Given the description of an element on the screen output the (x, y) to click on. 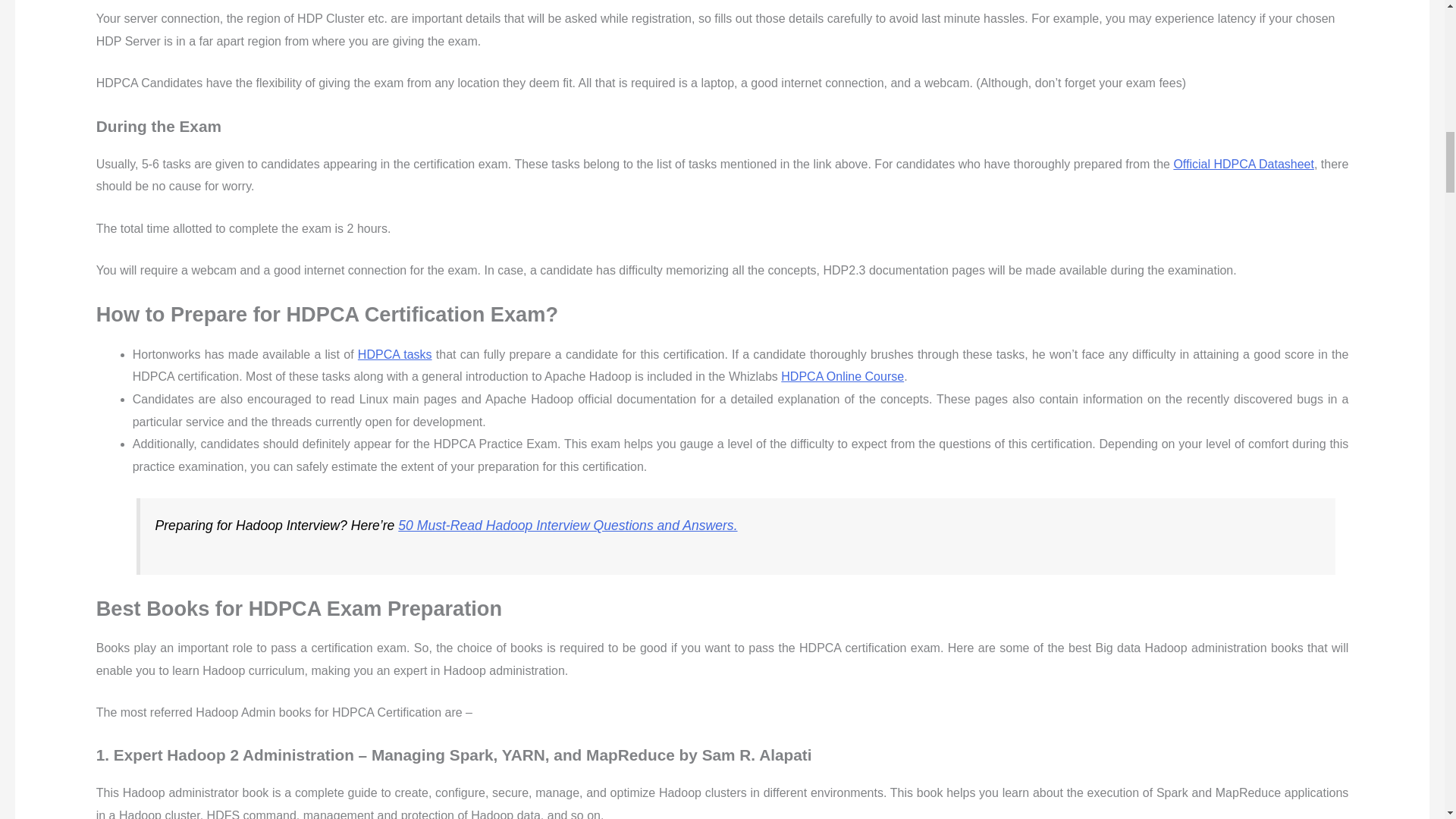
50 Must-Read Hadoop Interview Questions and Answers. (566, 525)
HDPCA tasks (395, 354)
HDPCA Online Course (842, 376)
Official HDPCA Datasheet (1243, 164)
